Given the description of an element on the screen output the (x, y) to click on. 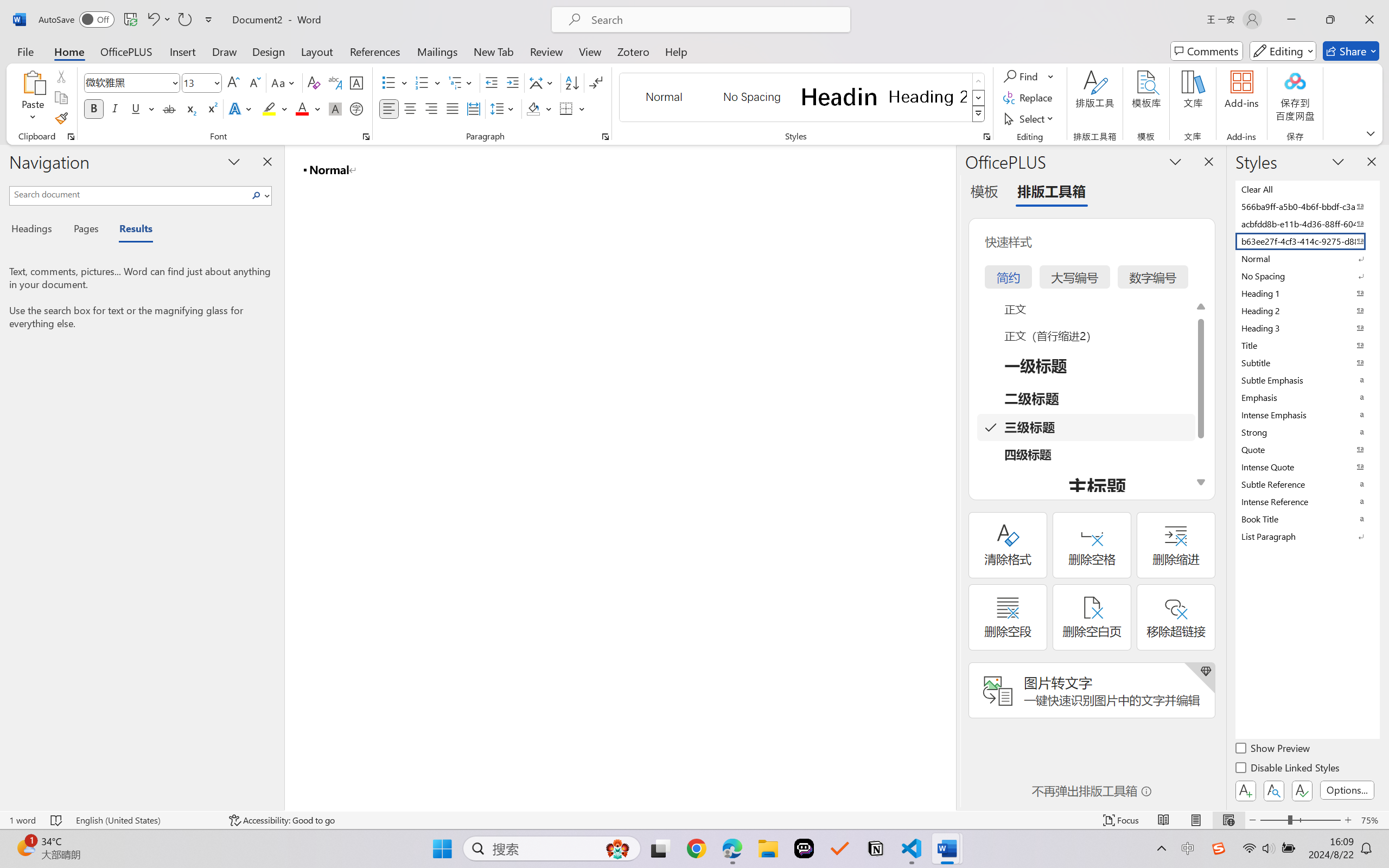
Restore Down (1330, 19)
Replace... (1029, 97)
Styles (978, 113)
Search document (128, 193)
Zoom Out (1273, 819)
Font Color (308, 108)
Search (259, 195)
Sort... (571, 82)
Font Size (196, 82)
acbfdd8b-e11b-4d36-88ff-6049b138f862 (1306, 223)
Language English (United States) (144, 819)
File Tab (24, 51)
AutomationID: BadgeAnchorLargeTicker (24, 847)
